Given the description of an element on the screen output the (x, y) to click on. 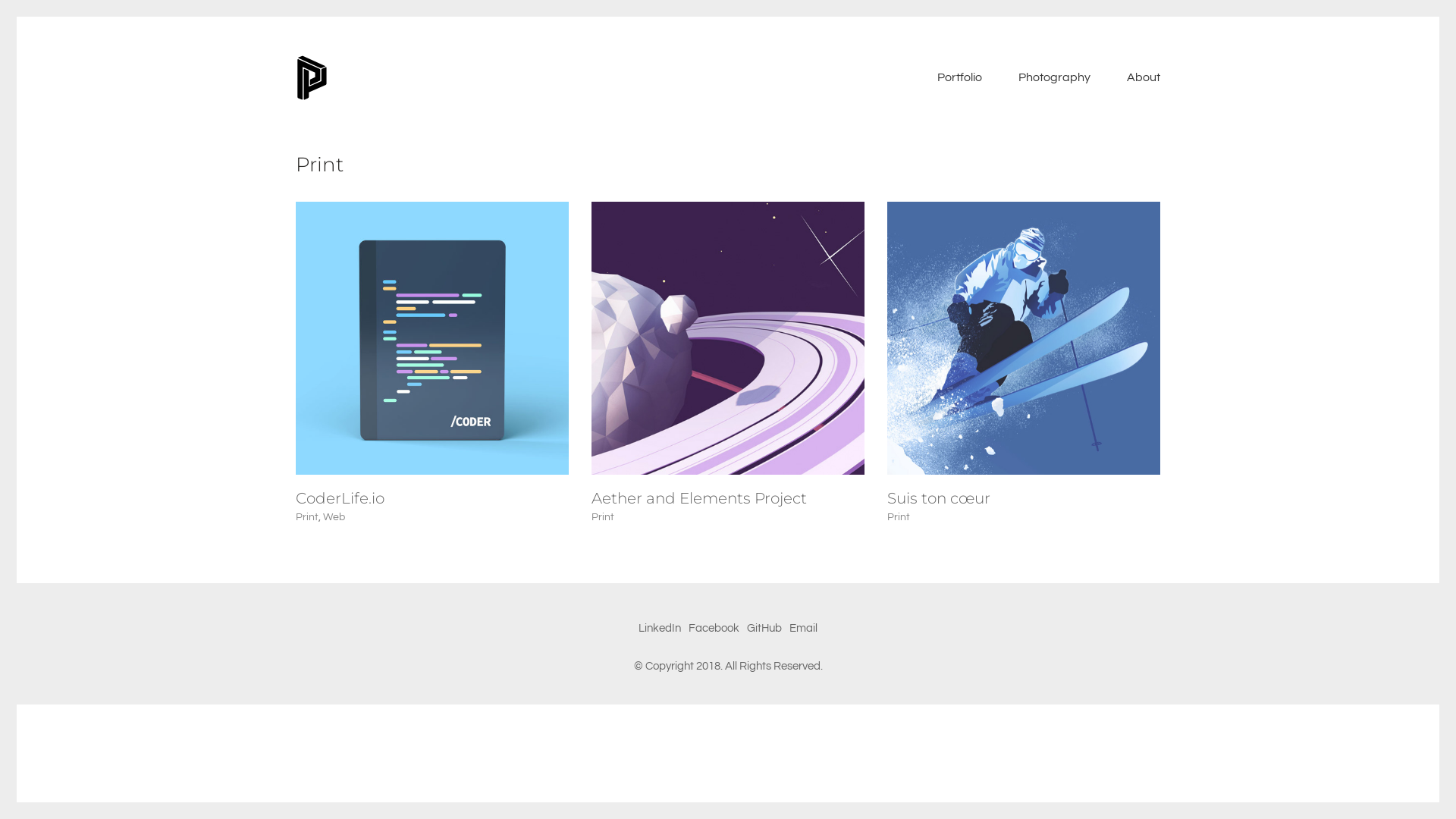
Photography Element type: text (1054, 77)
Print Element type: text (898, 517)
LinkedIn Element type: text (659, 628)
GitHub Element type: text (763, 628)
CoderLife.io Element type: text (339, 497)
Aether and Elements Project Element type: text (698, 497)
Facebook Element type: text (713, 628)
Email Element type: text (803, 628)
Web Element type: text (334, 517)
Print Element type: text (306, 517)
Portfolio Element type: text (959, 77)
About Element type: text (1143, 77)
Print Element type: text (602, 517)
